Given the description of an element on the screen output the (x, y) to click on. 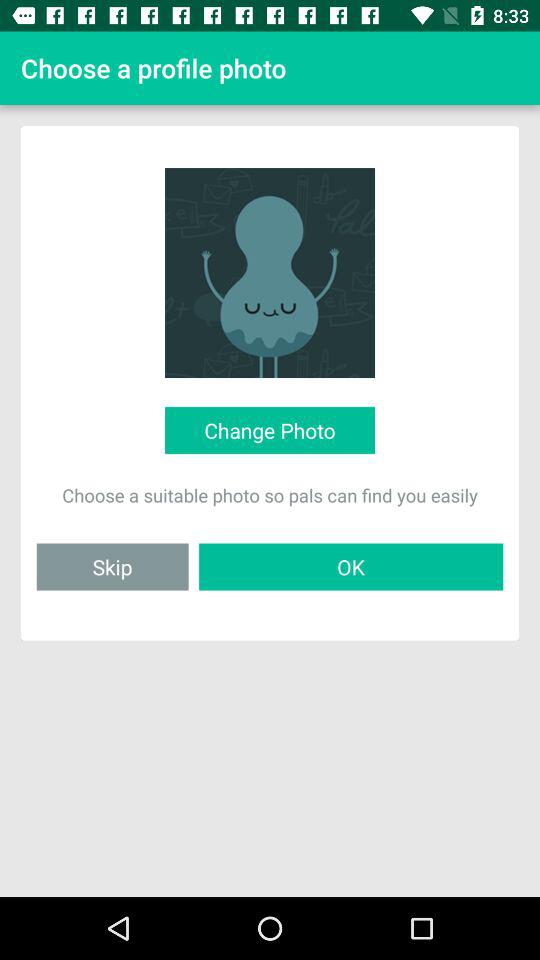
jump to the ok icon (351, 566)
